Given the description of an element on the screen output the (x, y) to click on. 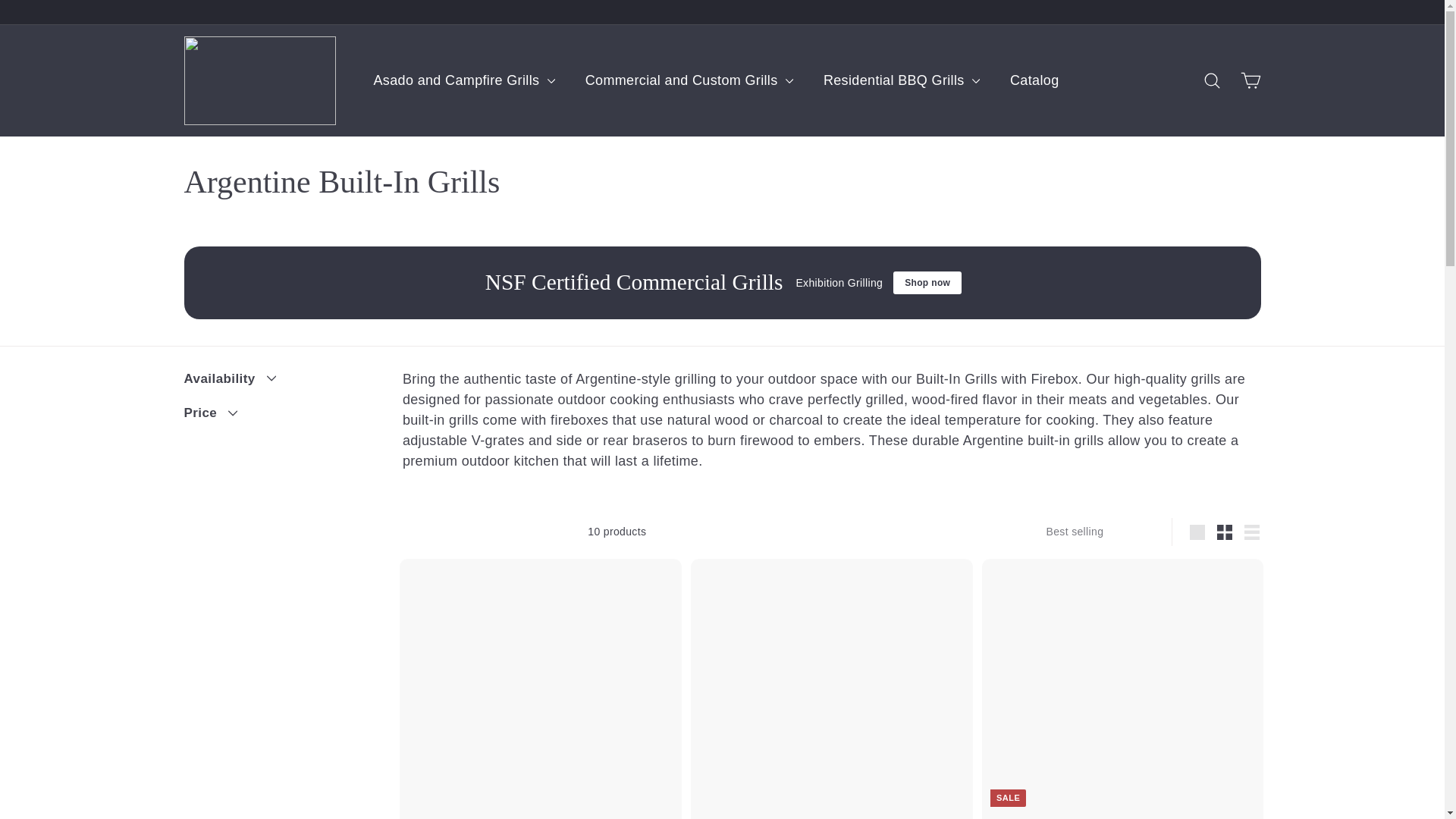
Large (1197, 531)
List (1252, 531)
Small (1225, 531)
